Given the description of an element on the screen output the (x, y) to click on. 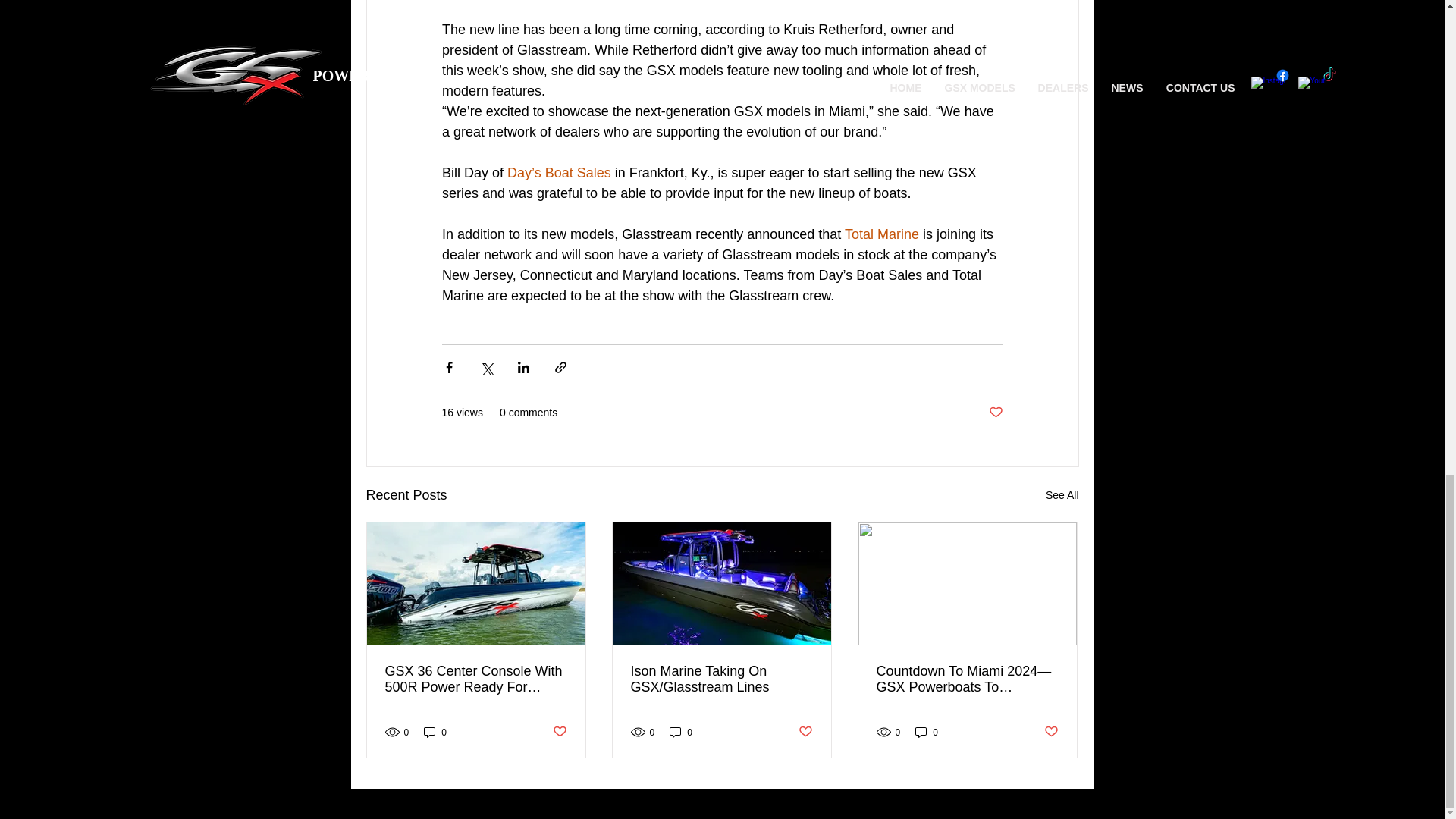
Post not marked as liked (558, 731)
See All (1061, 495)
Post not marked as liked (804, 731)
Post not marked as liked (995, 412)
0 (435, 731)
0 (681, 731)
Total Marine (881, 233)
